Given the description of an element on the screen output the (x, y) to click on. 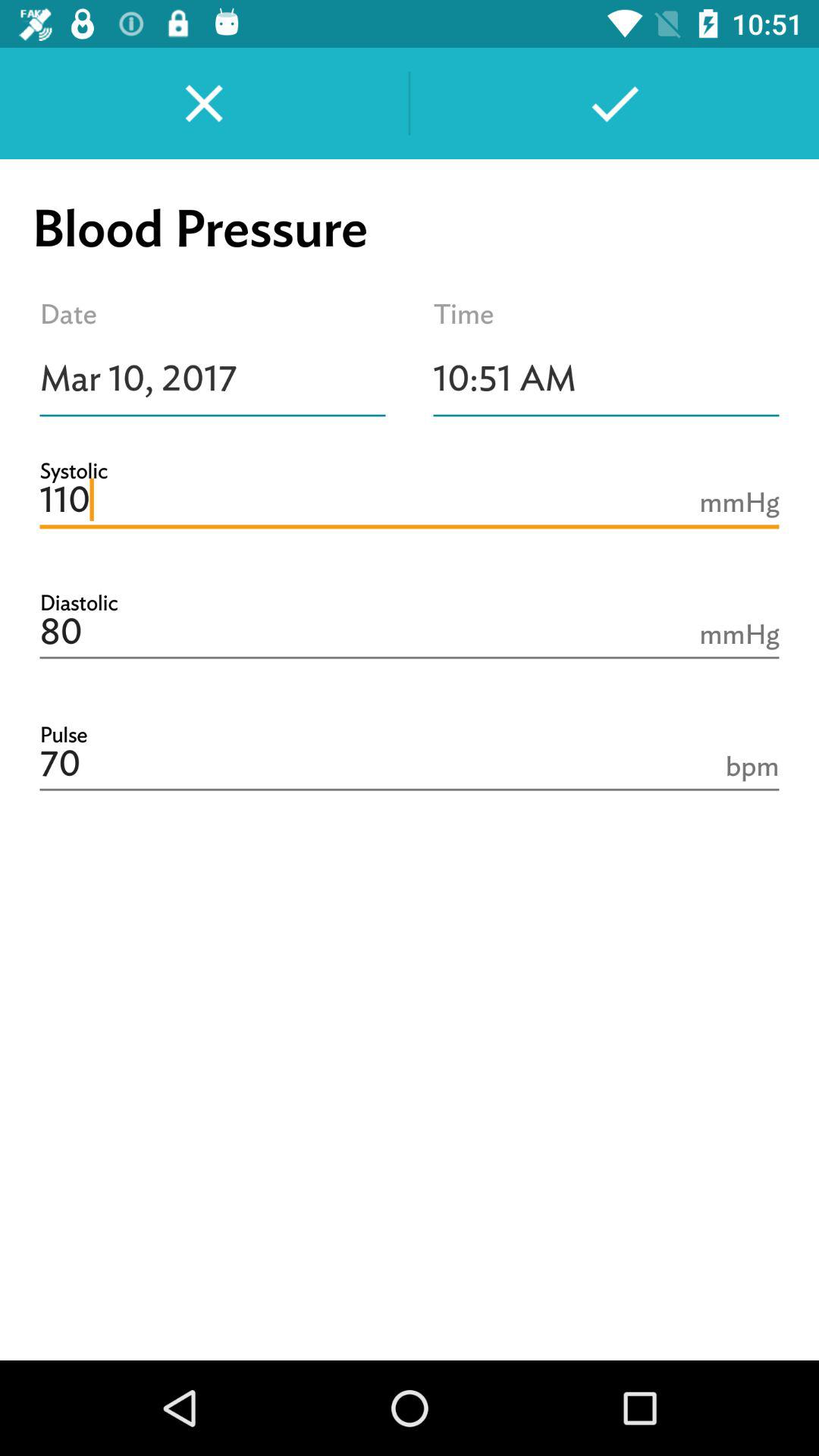
select the 110 item (409, 500)
